Given the description of an element on the screen output the (x, y) to click on. 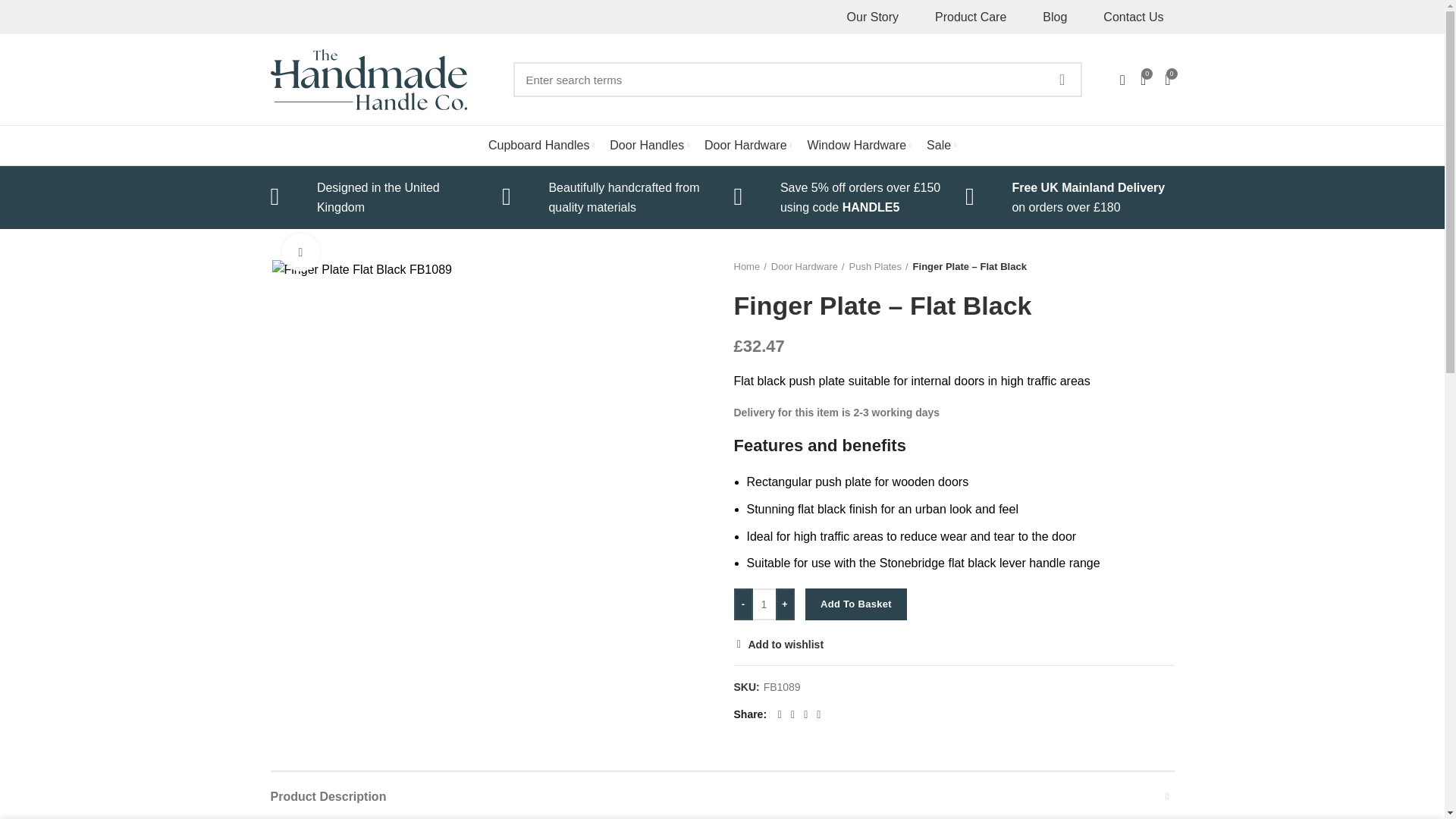
Search (1061, 79)
Enter search terms (796, 79)
Cupboard Handles (541, 145)
Door Handles (649, 145)
FB1089 Push Plate (360, 270)
Our Story (872, 17)
Product Care (971, 17)
Contact Us (1132, 17)
Blog (1054, 17)
